Given the description of an element on the screen output the (x, y) to click on. 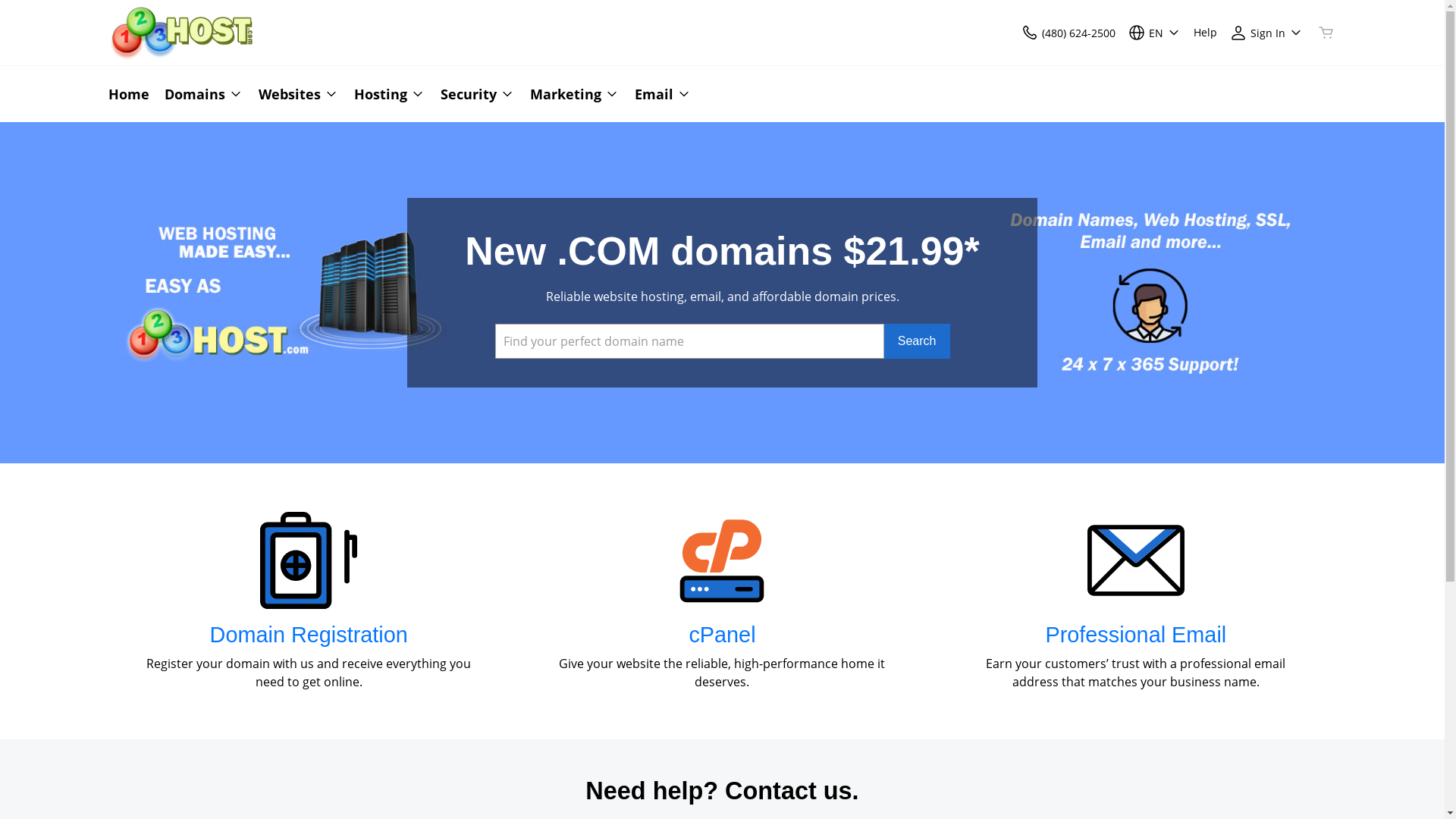
Domain Registration Element type: text (308, 634)
Security Element type: text (476, 93)
Home Element type: text (131, 93)
EN Element type: text (1153, 32)
(480) 624-2500 Element type: text (1067, 32)
Hosting Element type: text (388, 93)
Professional Email Element type: text (1135, 634)
Websites Element type: text (297, 93)
Contact Us Element type: hover (1029, 32)
Help Element type: text (1205, 32)
Domains Element type: text (203, 93)
Email Element type: text (658, 93)
Marketing Element type: text (573, 93)
cPanel Element type: text (721, 634)
Sign In Element type: text (1265, 32)
Search Element type: text (917, 340)
